Given the description of an element on the screen output the (x, y) to click on. 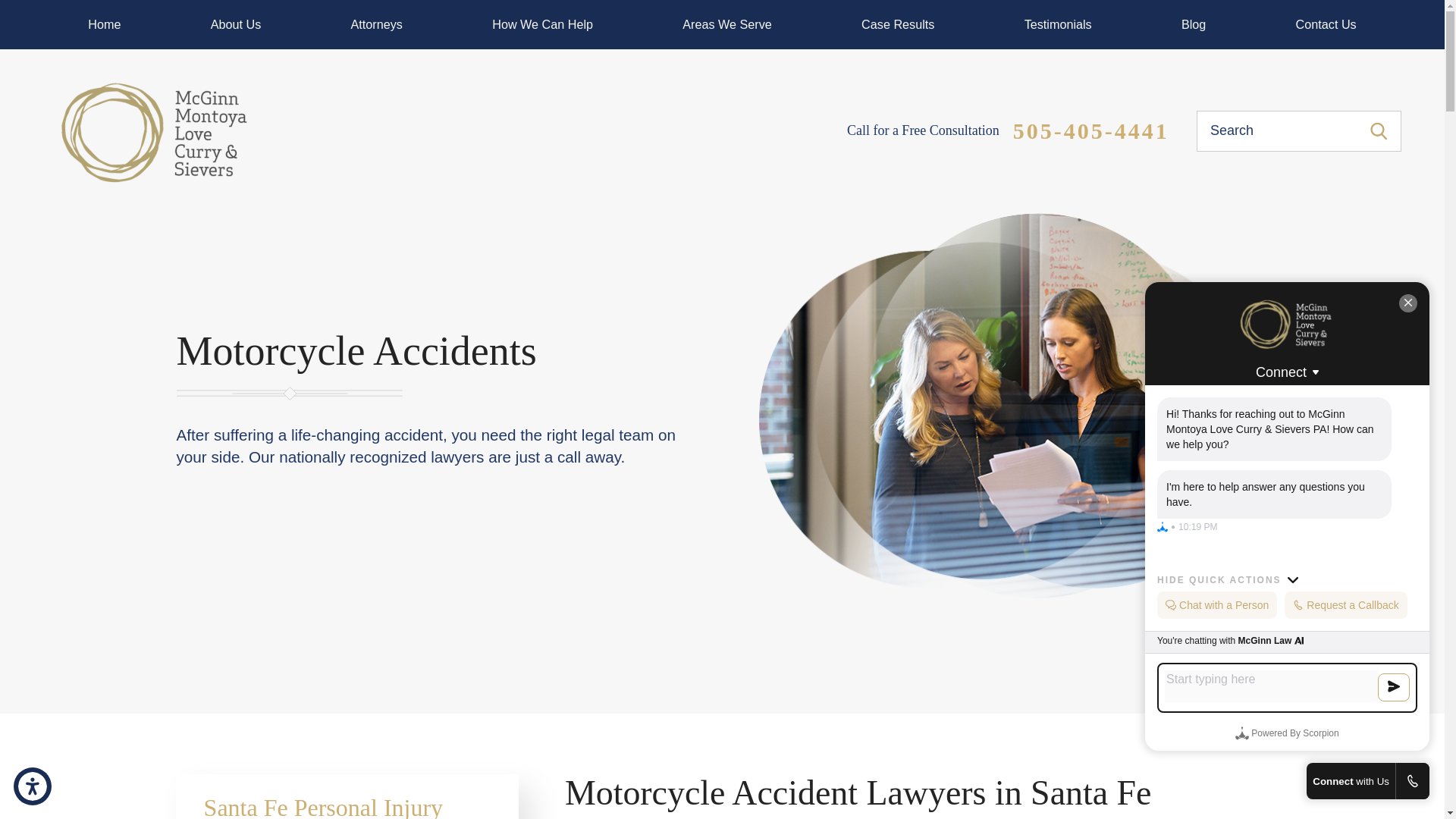
Search Our Site (1378, 131)
Blog (1193, 24)
Open the accessibility options menu (31, 786)
Search Icon (1378, 131)
How We Can Help (541, 24)
About Us (235, 24)
Home (104, 24)
Testimonials (1058, 24)
Attorneys (375, 24)
Areas We Serve (726, 24)
Case Results (897, 24)
